Given the description of an element on the screen output the (x, y) to click on. 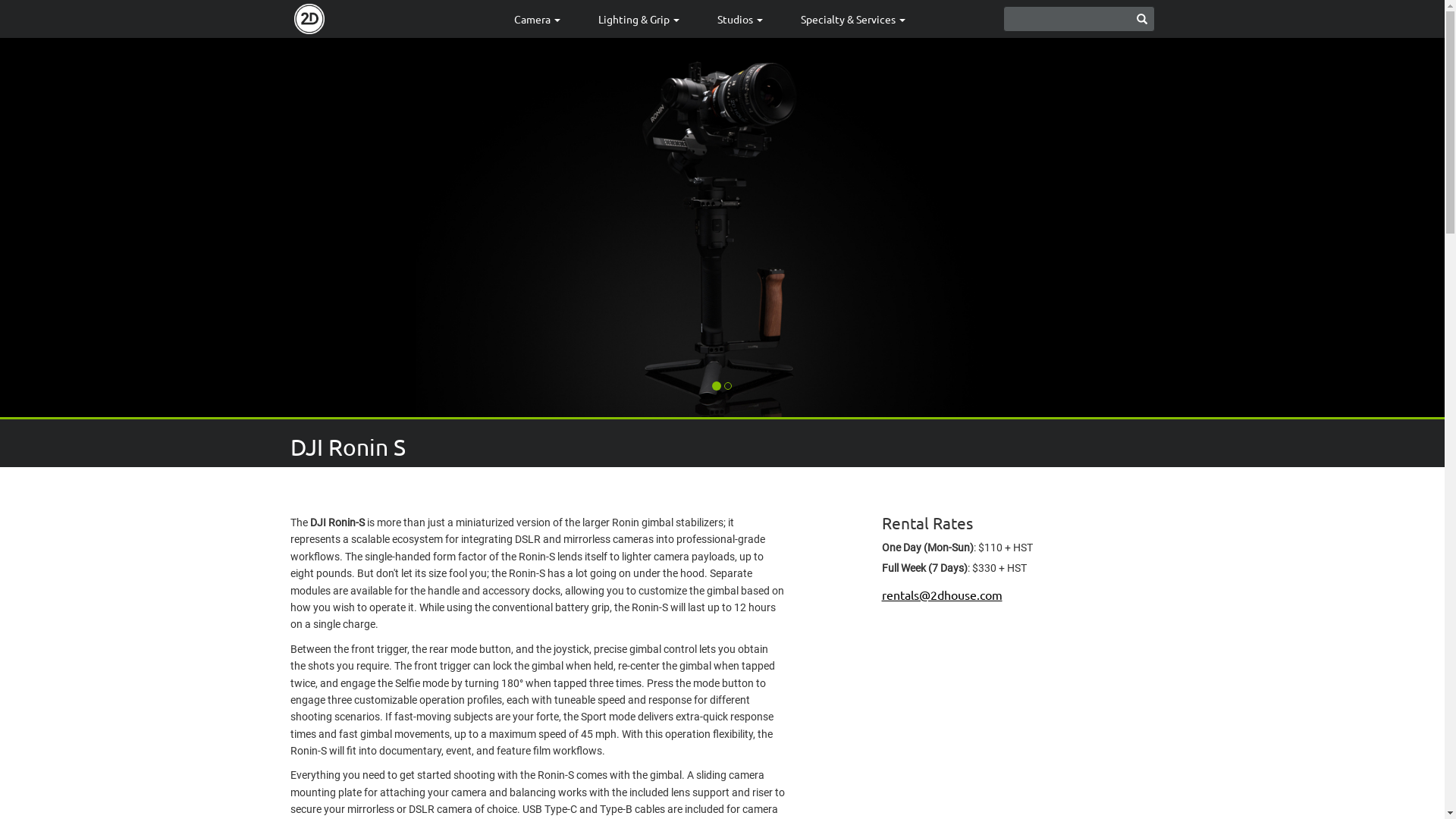
Studios Element type: text (739, 18)
Camera Element type: text (536, 18)
Specialty & Services Element type: text (852, 18)
Lighting & Grip Element type: text (638, 18)
rentals@2dhouse.com Element type: text (941, 594)
